Given the description of an element on the screen output the (x, y) to click on. 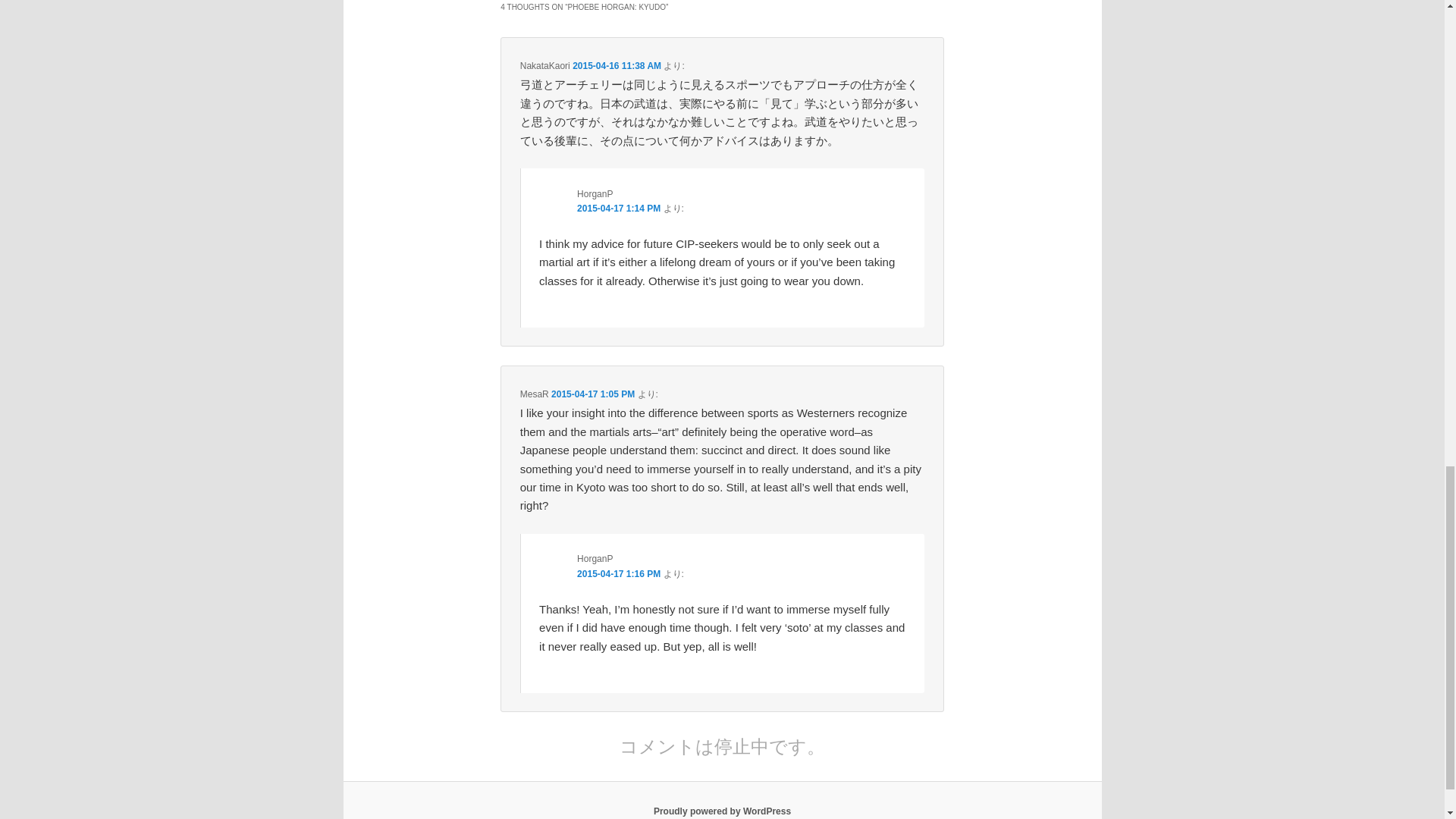
2015-04-16 11:38 AM (616, 65)
2015-04-17 1:16 PM (618, 573)
2015-04-17 1:05 PM (592, 394)
2015-04-17 1:14 PM (618, 208)
Proudly powered by WordPress (721, 810)
